Given the description of an element on the screen output the (x, y) to click on. 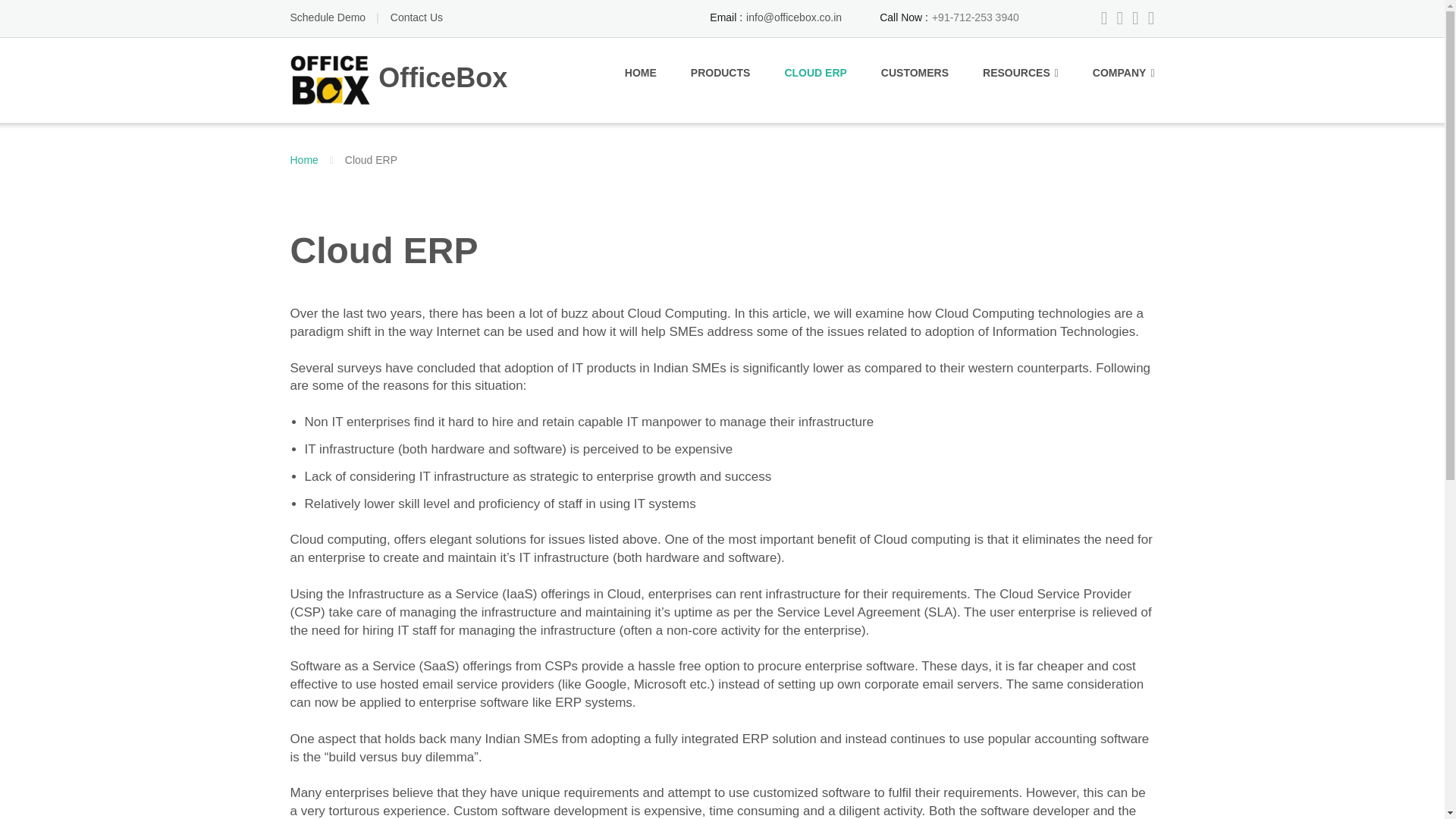
RESOURCES (1020, 73)
PRODUCTS (720, 73)
COMPANY (1123, 73)
OfficeBox (303, 159)
CUSTOMERS (914, 73)
OfficeBox (397, 79)
Contact Us (416, 17)
Schedule Demo (327, 17)
HOME (640, 73)
CLOUD ERP (814, 73)
Home (303, 159)
OfficeBox (397, 79)
